Given the description of an element on the screen output the (x, y) to click on. 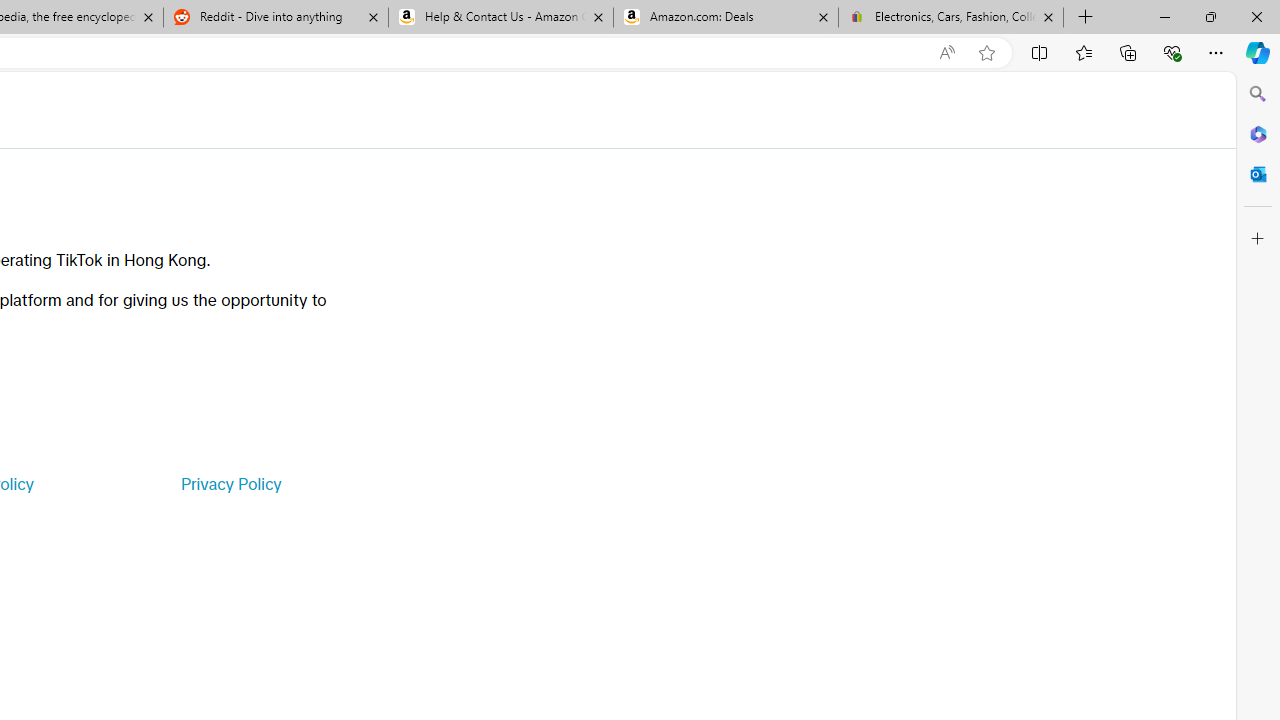
Amazon.com: Deals (726, 17)
Help & Contact Us - Amazon Customer Service (501, 17)
Reddit - Dive into anything (275, 17)
Privacy Policy (230, 484)
